Given the description of an element on the screen output the (x, y) to click on. 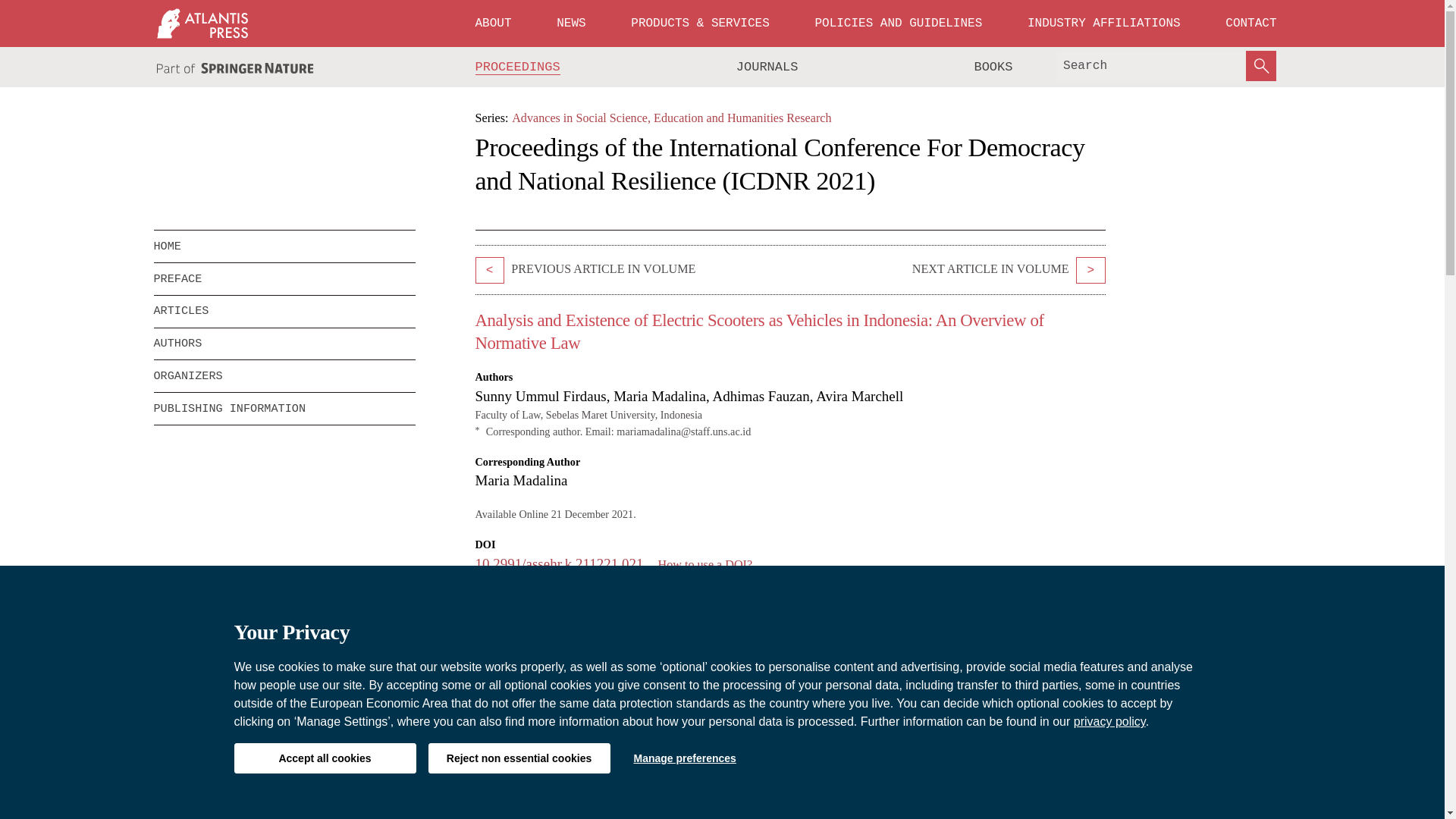
Atlantis Press is Part of Springer Nature (234, 67)
Reject non essential cookies (519, 757)
Accept all cookies (323, 757)
BOOKS (992, 66)
PROCEEDINGS (518, 66)
INDUSTRY AFFILIATIONS (1104, 23)
privacy policy (1109, 721)
POLICIES AND GUIDELINES (897, 23)
AUTHORS (283, 344)
